Given the description of an element on the screen output the (x, y) to click on. 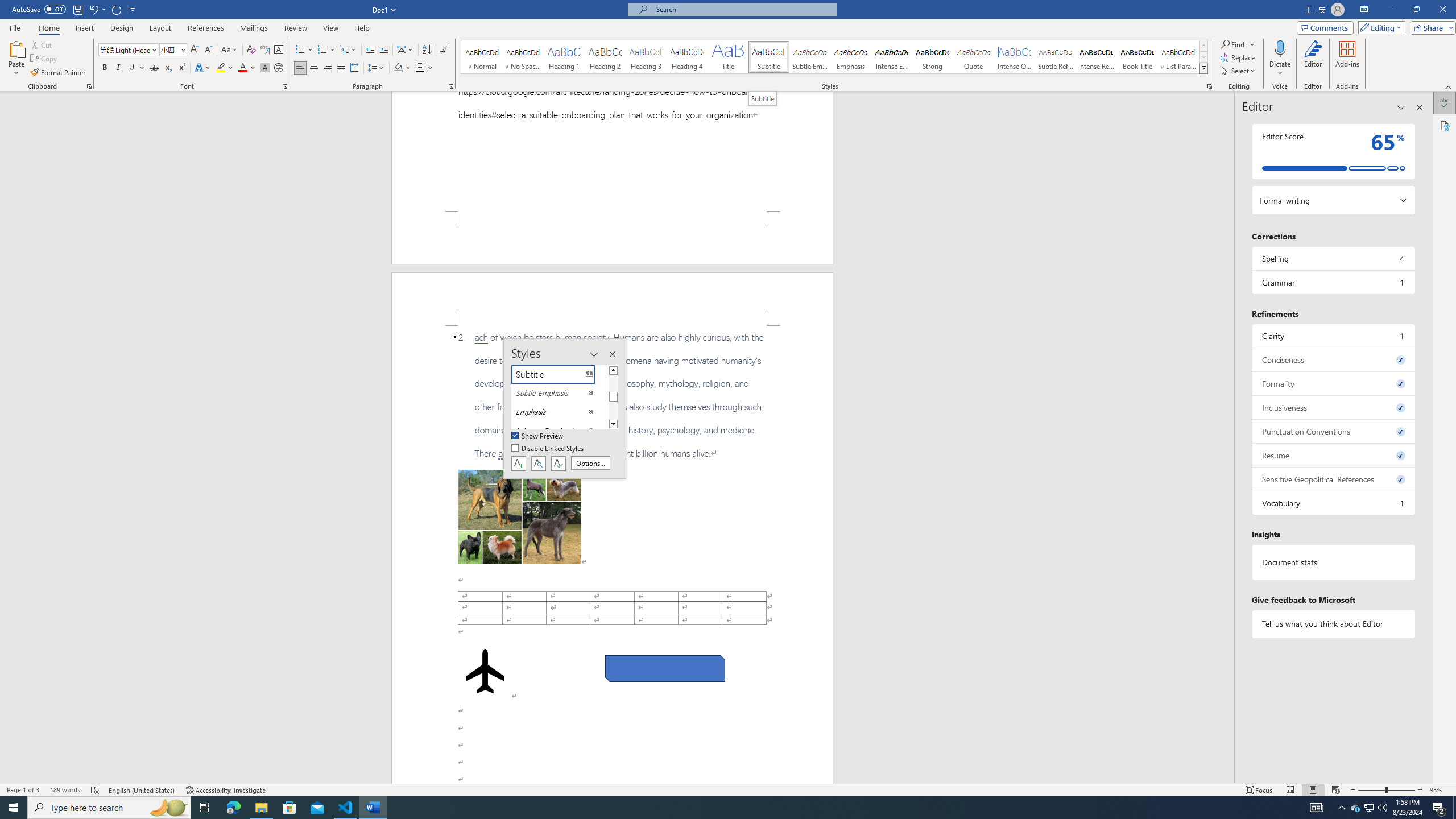
Change Case (229, 49)
Cut (42, 44)
Close pane (1419, 107)
Formality, 0 issues. Press space or enter to review items. (1333, 383)
Paste (16, 48)
Intense Emphasis (891, 56)
Accessibility Checker Accessibility: Investigate (226, 790)
Center (313, 67)
Open (182, 49)
Quote (973, 56)
Zoom In (1420, 790)
Row up (1203, 45)
